Given the description of an element on the screen output the (x, y) to click on. 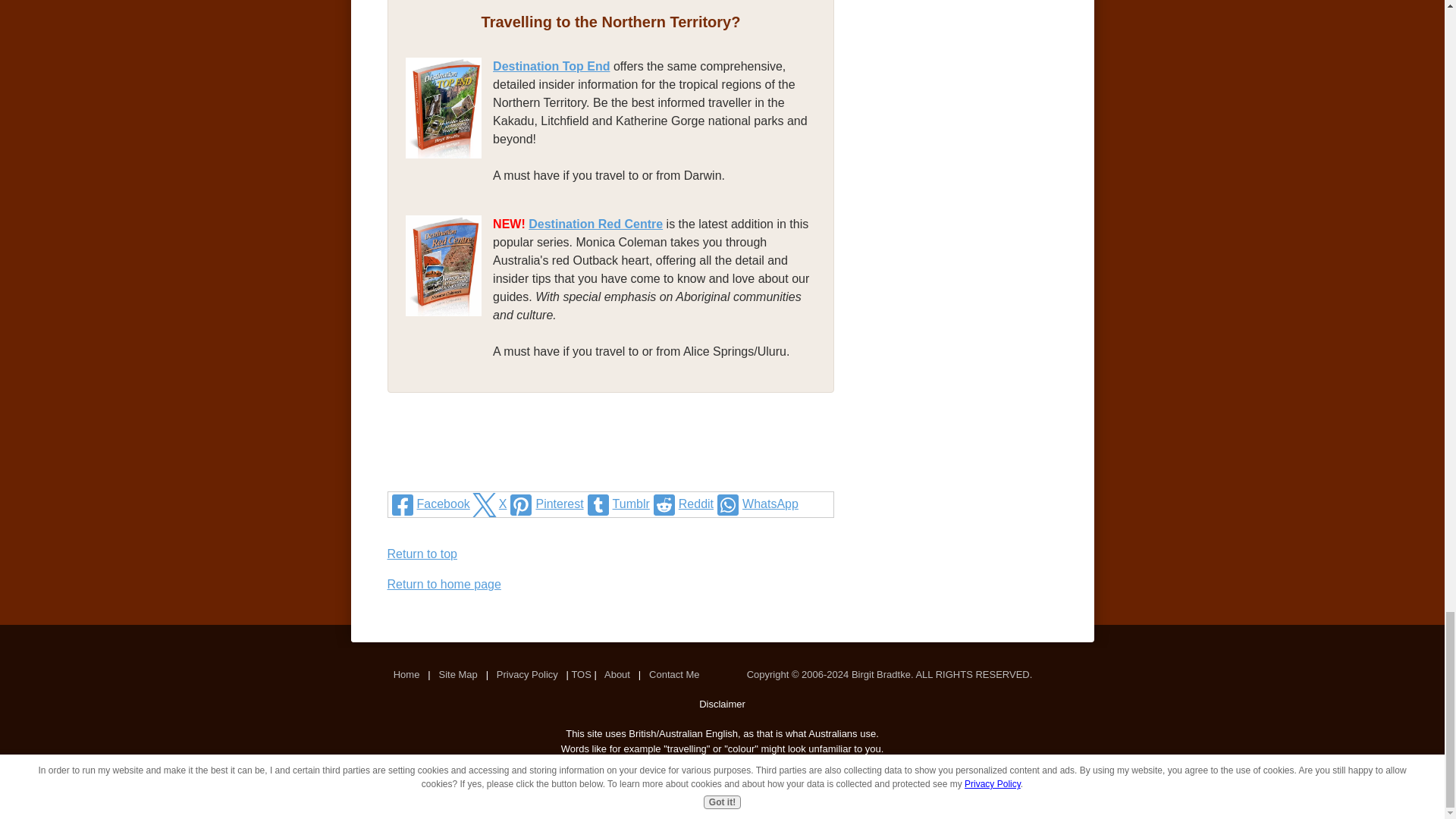
Advertisement (611, 460)
Go to NT Travel Guide: Destination Red Centre (449, 335)
